Given the description of an element on the screen output the (x, y) to click on. 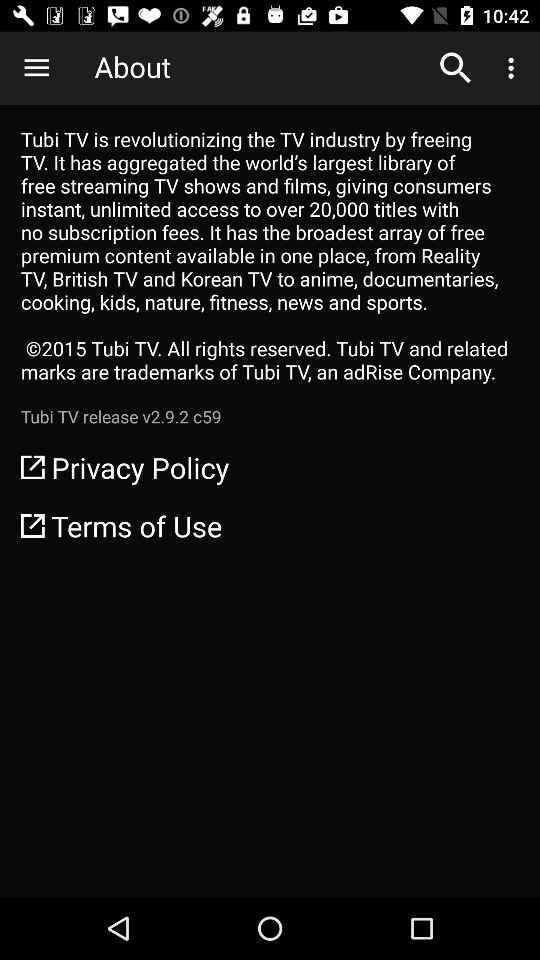
open icon to the left of the about icon (36, 68)
